Given the description of an element on the screen output the (x, y) to click on. 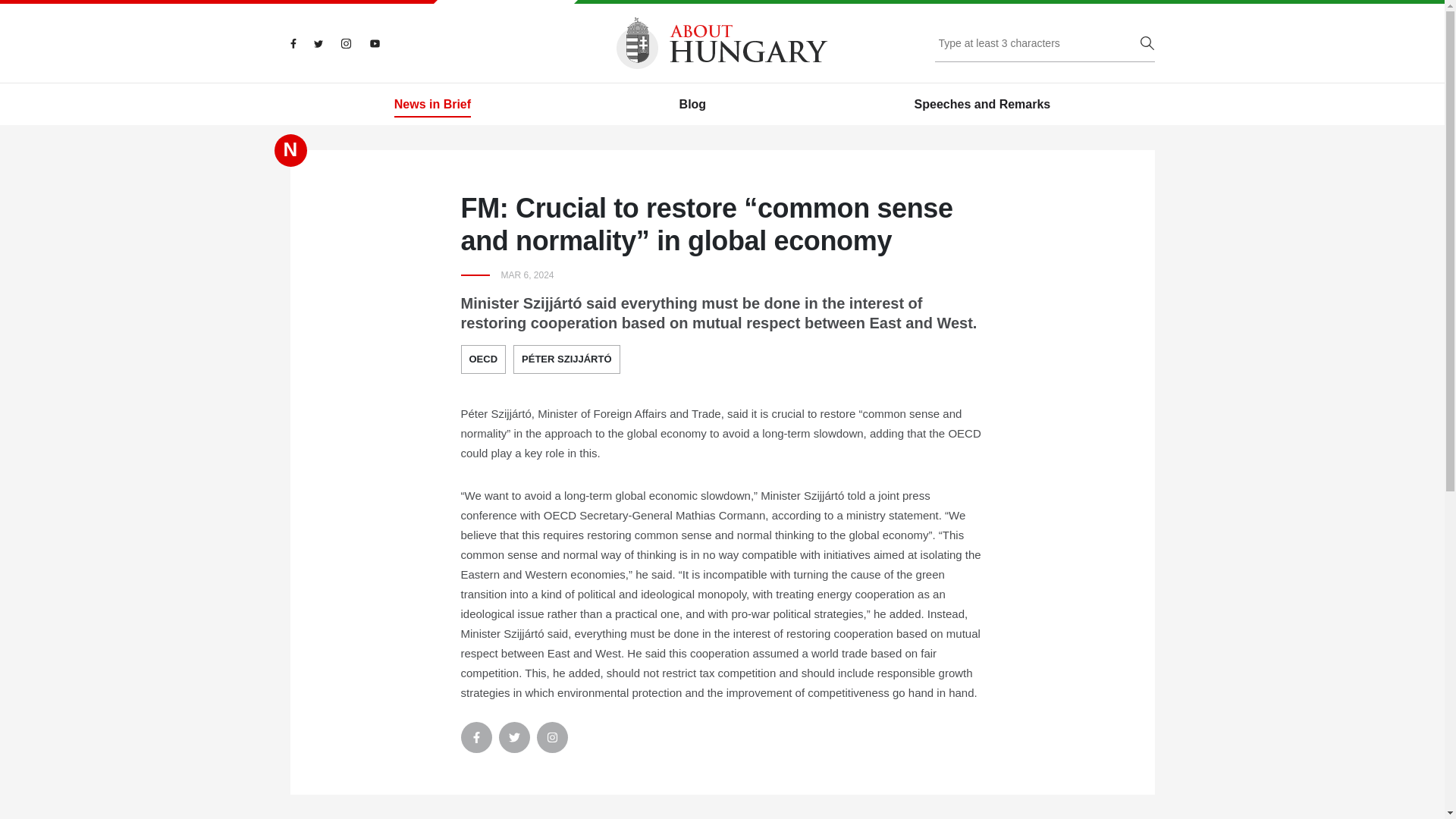
Speeches and Remarks (982, 104)
Blog (692, 104)
Twitter- icon (514, 736)
News in Brief (432, 104)
Instagram icon (552, 736)
OECD (483, 358)
News in Brief (432, 104)
OECD (483, 358)
Facebook icon (476, 736)
Speeches and Remarks (982, 104)
